Given the description of an element on the screen output the (x, y) to click on. 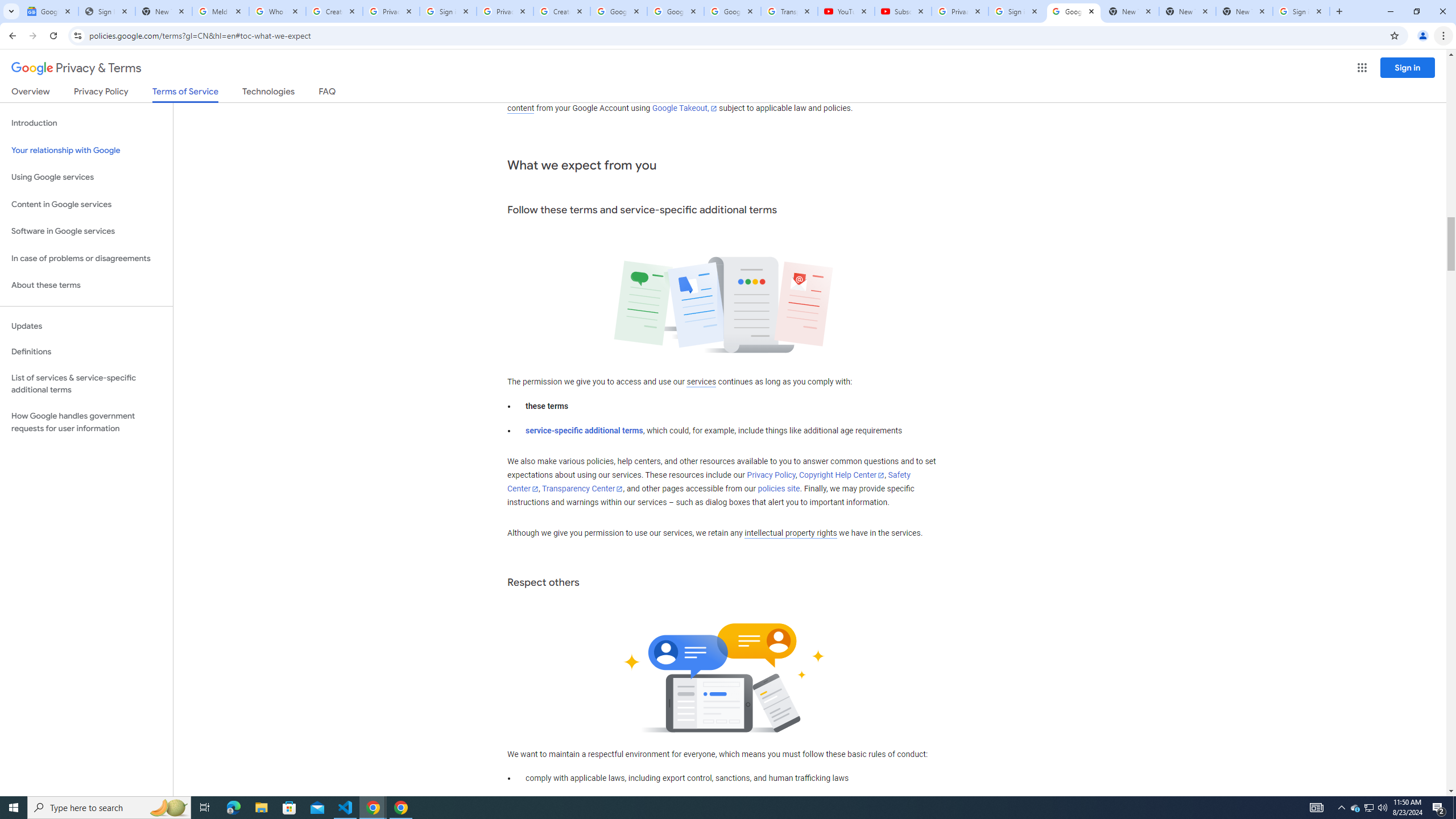
About these terms (86, 284)
Google News (49, 11)
Your relationship with Google (86, 150)
YouTube (845, 11)
Copyright Help Center (841, 475)
Create your Google Account (561, 11)
Google Account (731, 11)
intellectual property rights (790, 533)
